Given the description of an element on the screen output the (x, y) to click on. 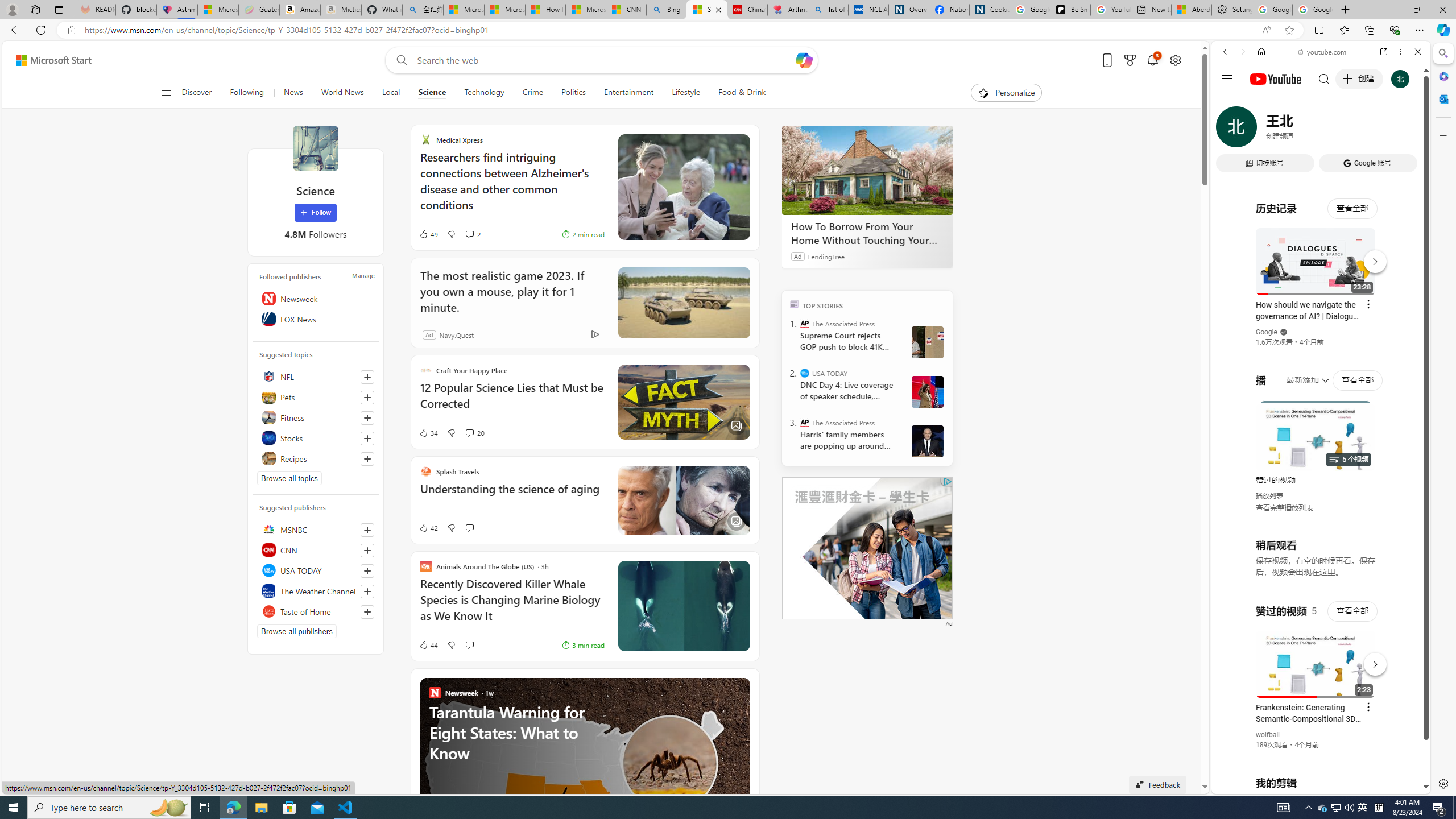
Refresh (40, 29)
MSNBC (315, 529)
Favorites (1344, 29)
Navy.Quest (456, 334)
Lifestyle (685, 92)
Preferences (1403, 129)
Follow this topic (367, 458)
TOP (794, 302)
Local (390, 92)
Ad (429, 334)
Science (431, 92)
